Given the description of an element on the screen output the (x, y) to click on. 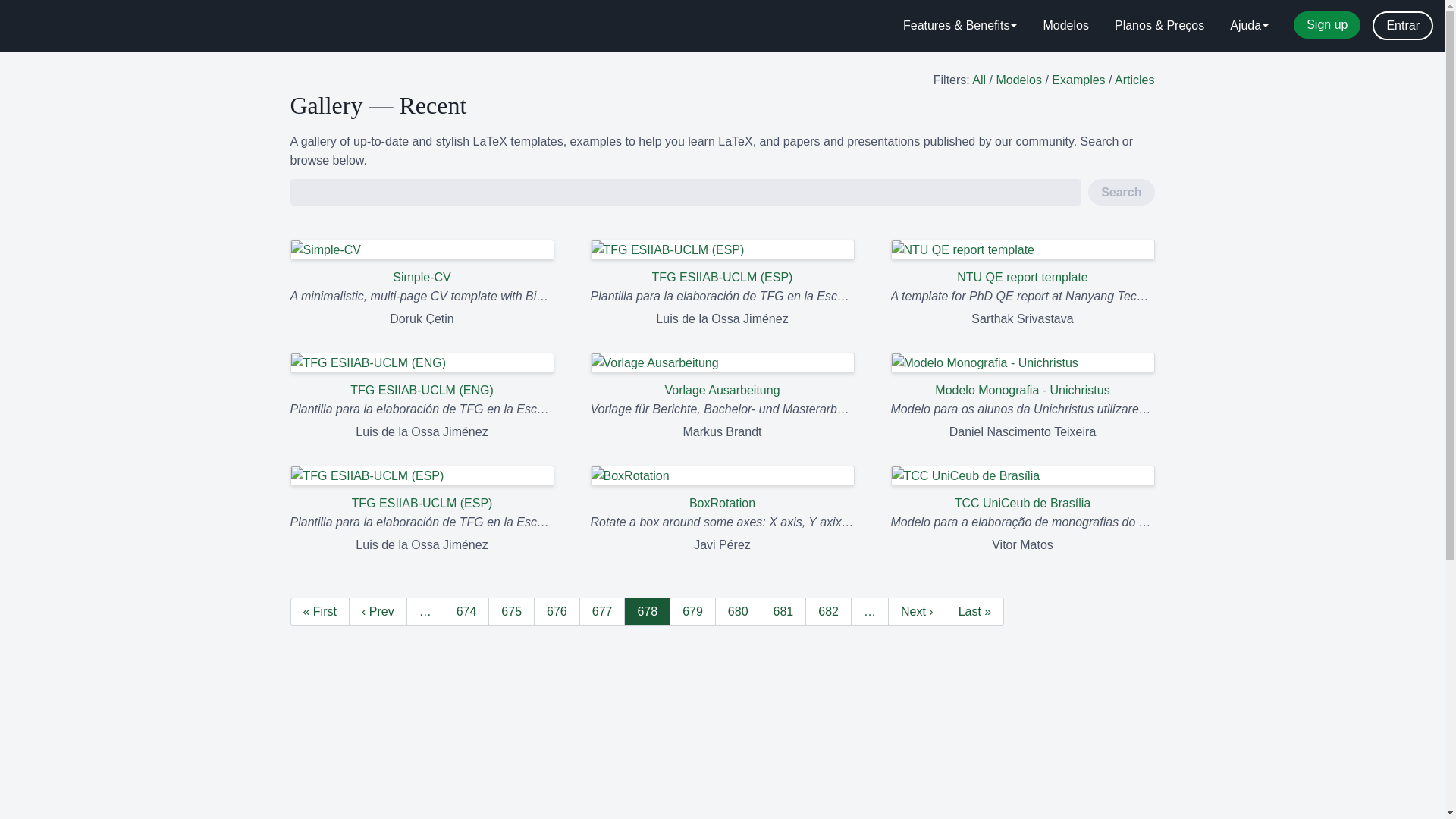
675 (510, 611)
Articles (1134, 79)
Search (1120, 192)
All (978, 79)
Ajuda (1249, 25)
677 (602, 611)
Vorlage Ausarbeitung (721, 375)
Modelos (1018, 79)
676 (556, 611)
680 (737, 611)
